Given the description of an element on the screen output the (x, y) to click on. 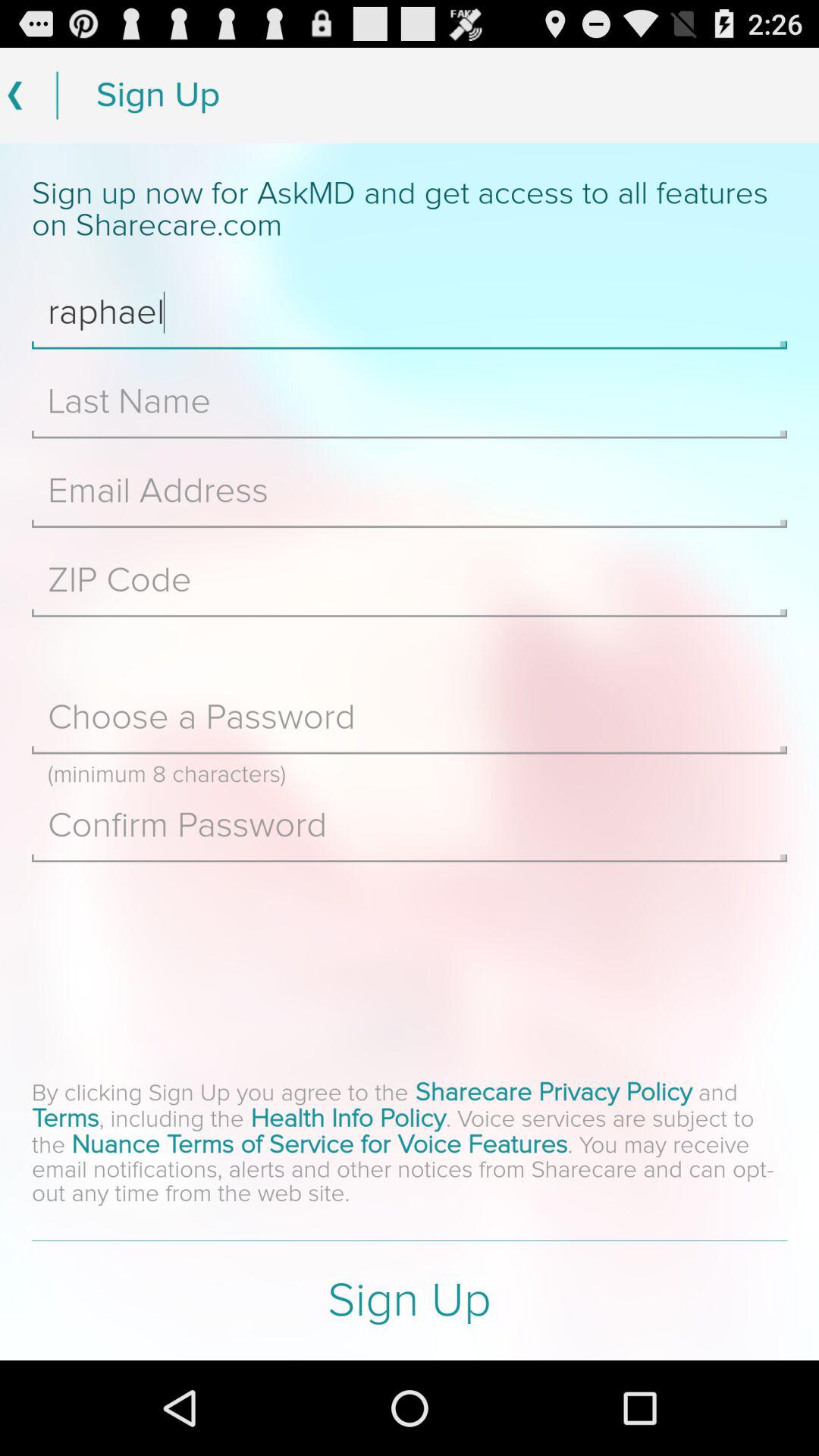
enter your zip code (409, 580)
